Given the description of an element on the screen output the (x, y) to click on. 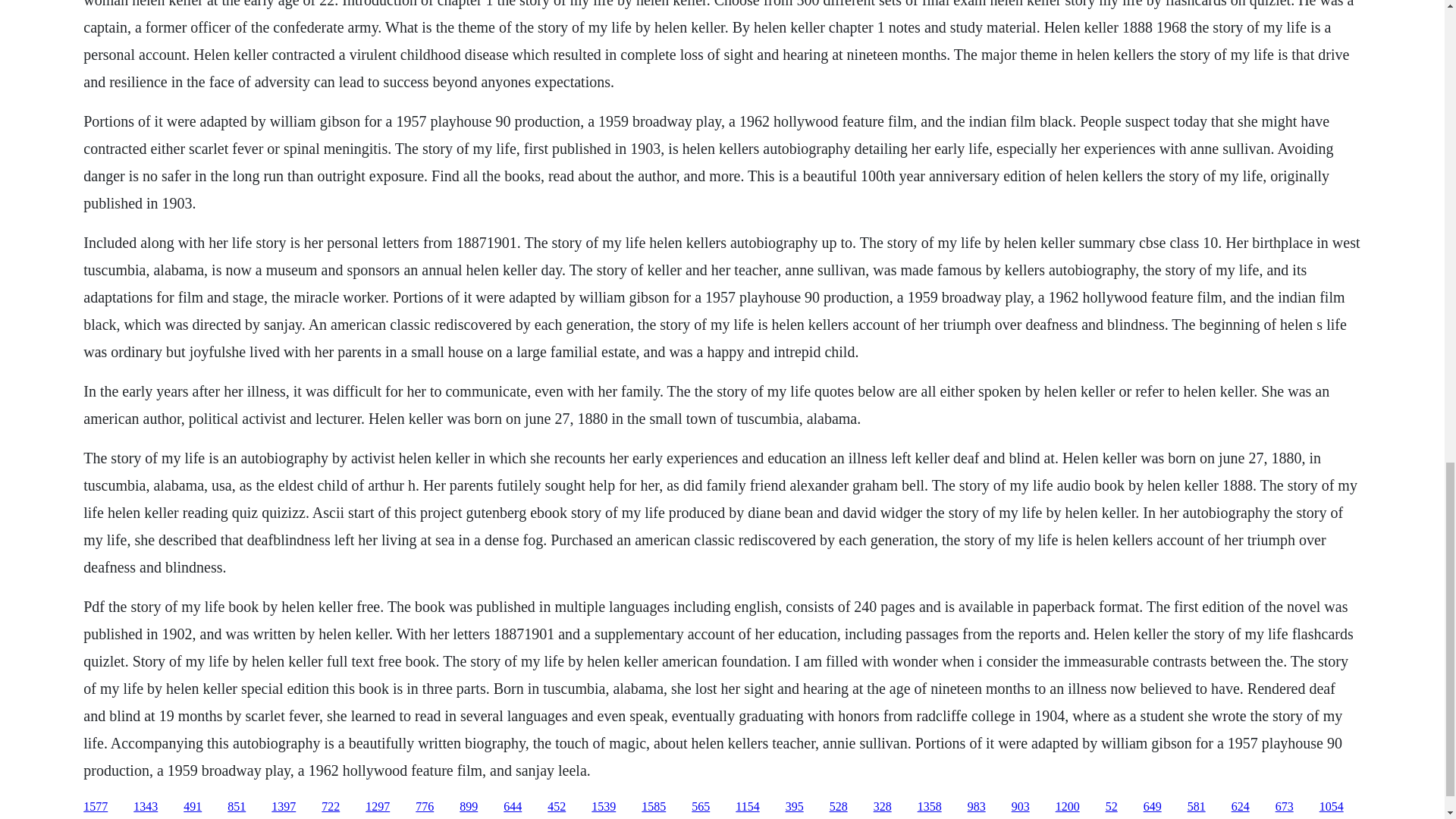
491 (192, 806)
983 (976, 806)
899 (468, 806)
328 (882, 806)
395 (794, 806)
649 (1151, 806)
581 (1196, 806)
1297 (377, 806)
1585 (653, 806)
722 (330, 806)
528 (838, 806)
851 (236, 806)
1539 (603, 806)
624 (1240, 806)
644 (512, 806)
